Given the description of an element on the screen output the (x, y) to click on. 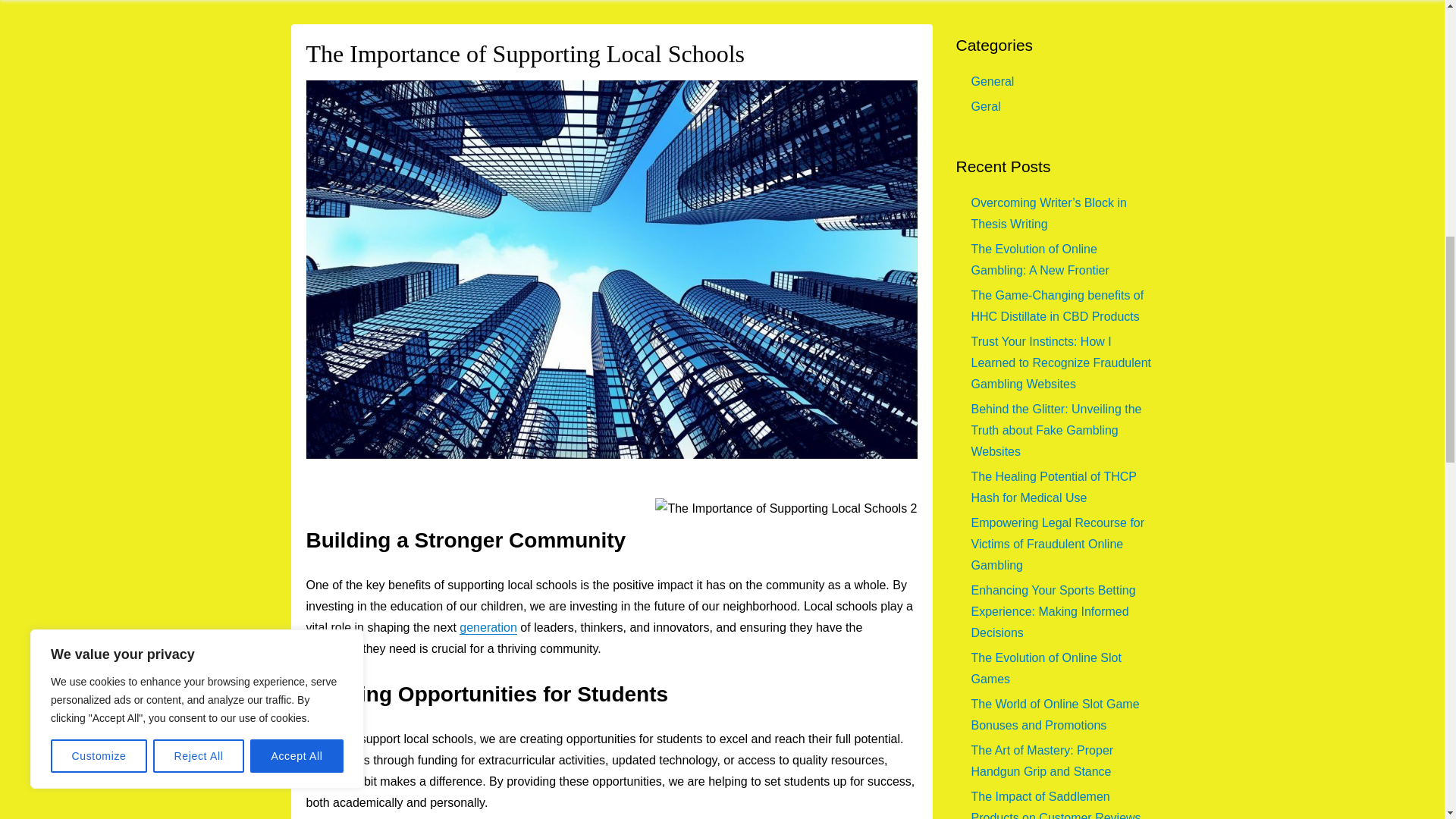
Geral (985, 106)
The Evolution of Online Gambling: A New Frontier (1039, 259)
The Game-Changing benefits of HHC Distillate in CBD Products (1056, 305)
General (992, 81)
generation (488, 626)
